Given the description of an element on the screen output the (x, y) to click on. 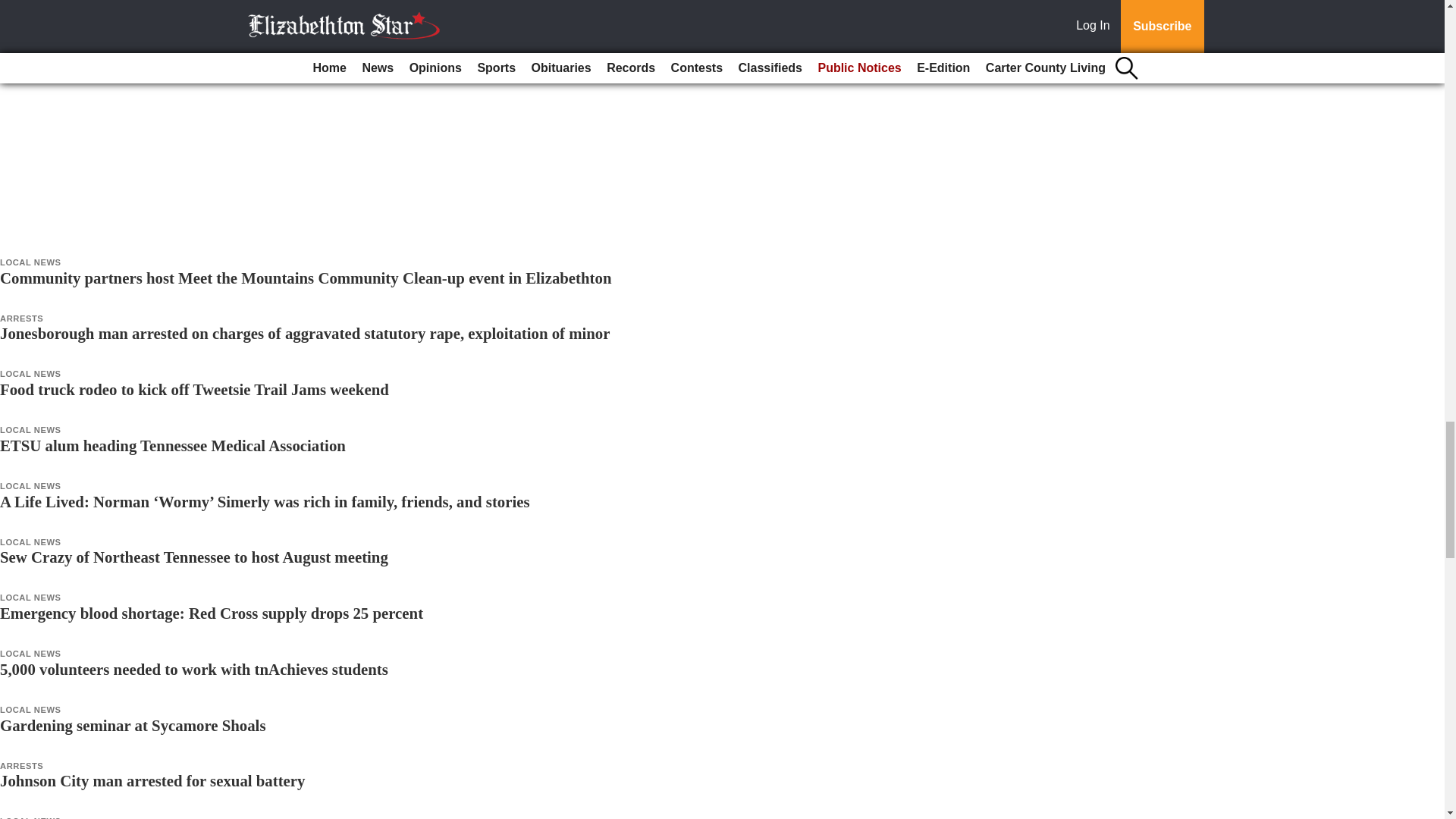
Gardening seminar at Sycamore Shoals (132, 724)
Food truck rodeo to kick off Tweetsie Trail Jams weekend (194, 389)
Food truck rodeo to kick off Tweetsie Trail Jams weekend (194, 389)
Johnson City man arrested for sexual battery (152, 780)
ETSU alum heading Tennessee Medical Association (173, 445)
